Given the description of an element on the screen output the (x, y) to click on. 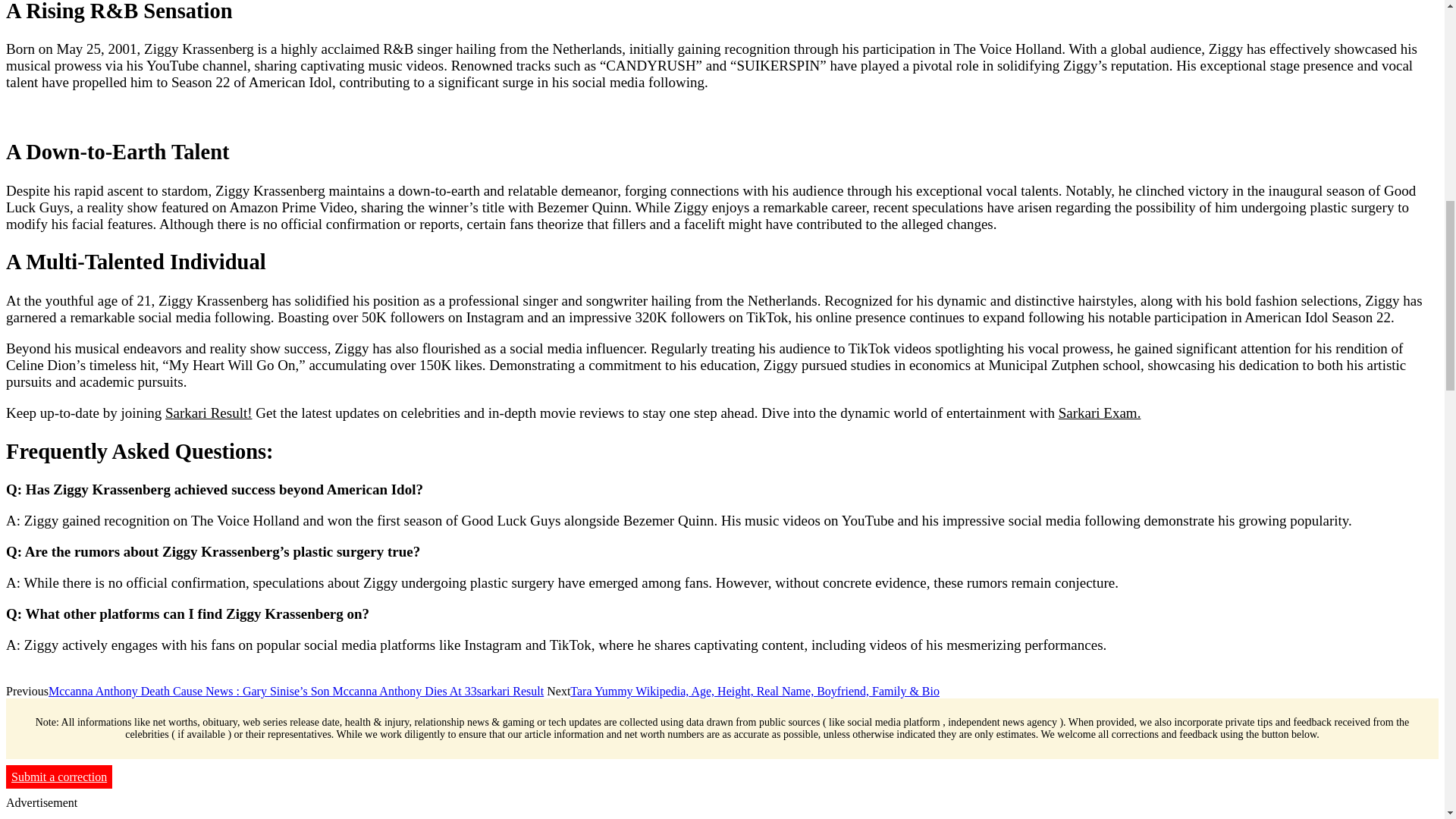
sarkari Result (510, 690)
Sarkari Result! (208, 412)
Submit a correction (58, 776)
Sarkari Exam. (1099, 412)
